Given the description of an element on the screen output the (x, y) to click on. 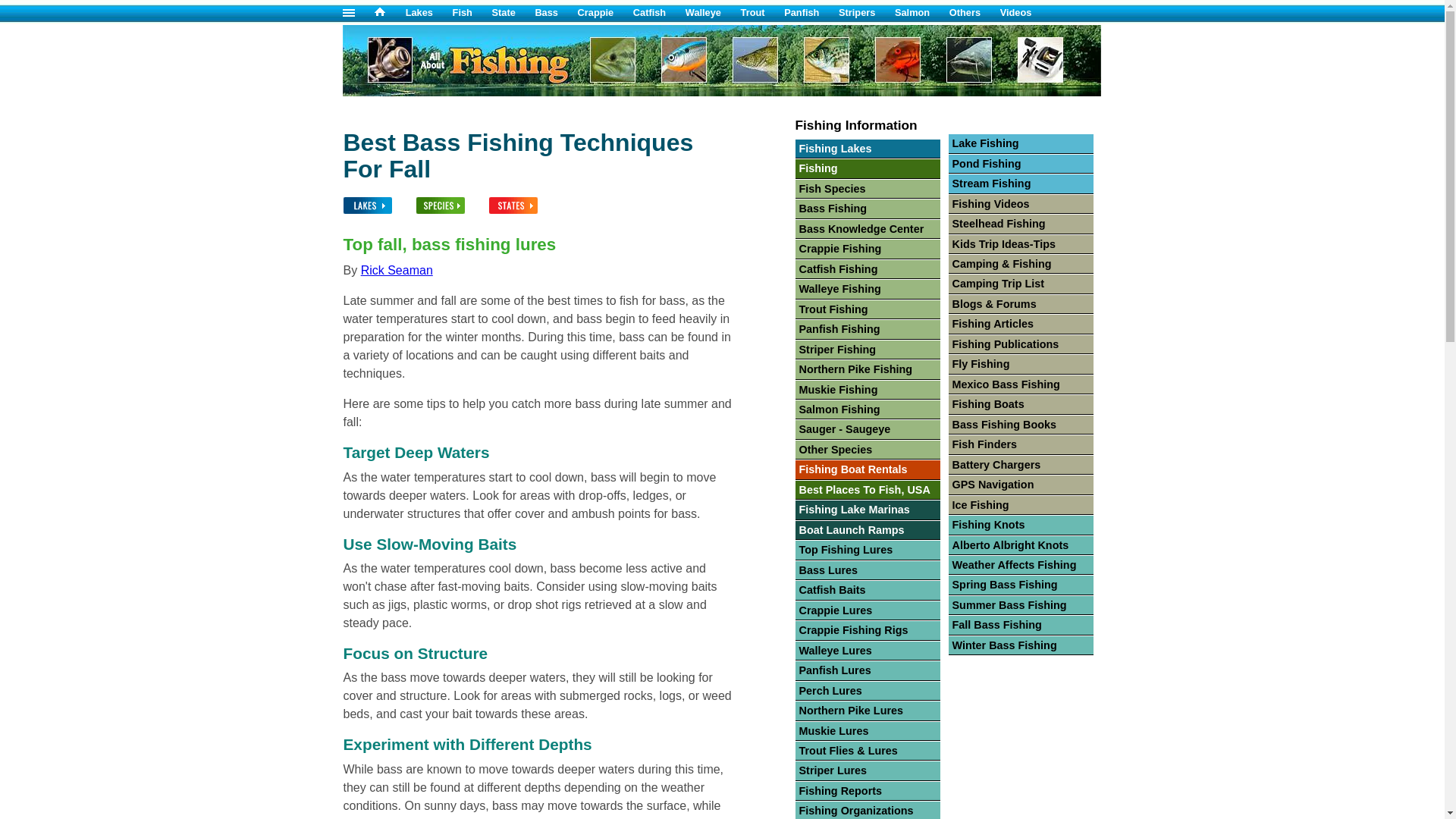
Select A Lake (378, 209)
Bass Fishing (555, 12)
Fishing (501, 91)
Catfish Fishing (659, 12)
Salmon (922, 12)
Select A Lake (366, 202)
Videos (1025, 12)
Crappie Fishing (605, 12)
Panfish Fishing (811, 12)
Walleye Fishing (713, 12)
Rick Seaman (396, 269)
Walleye (713, 12)
Trout (762, 12)
Striper Fishing (866, 12)
Stripers (866, 12)
